Given the description of an element on the screen output the (x, y) to click on. 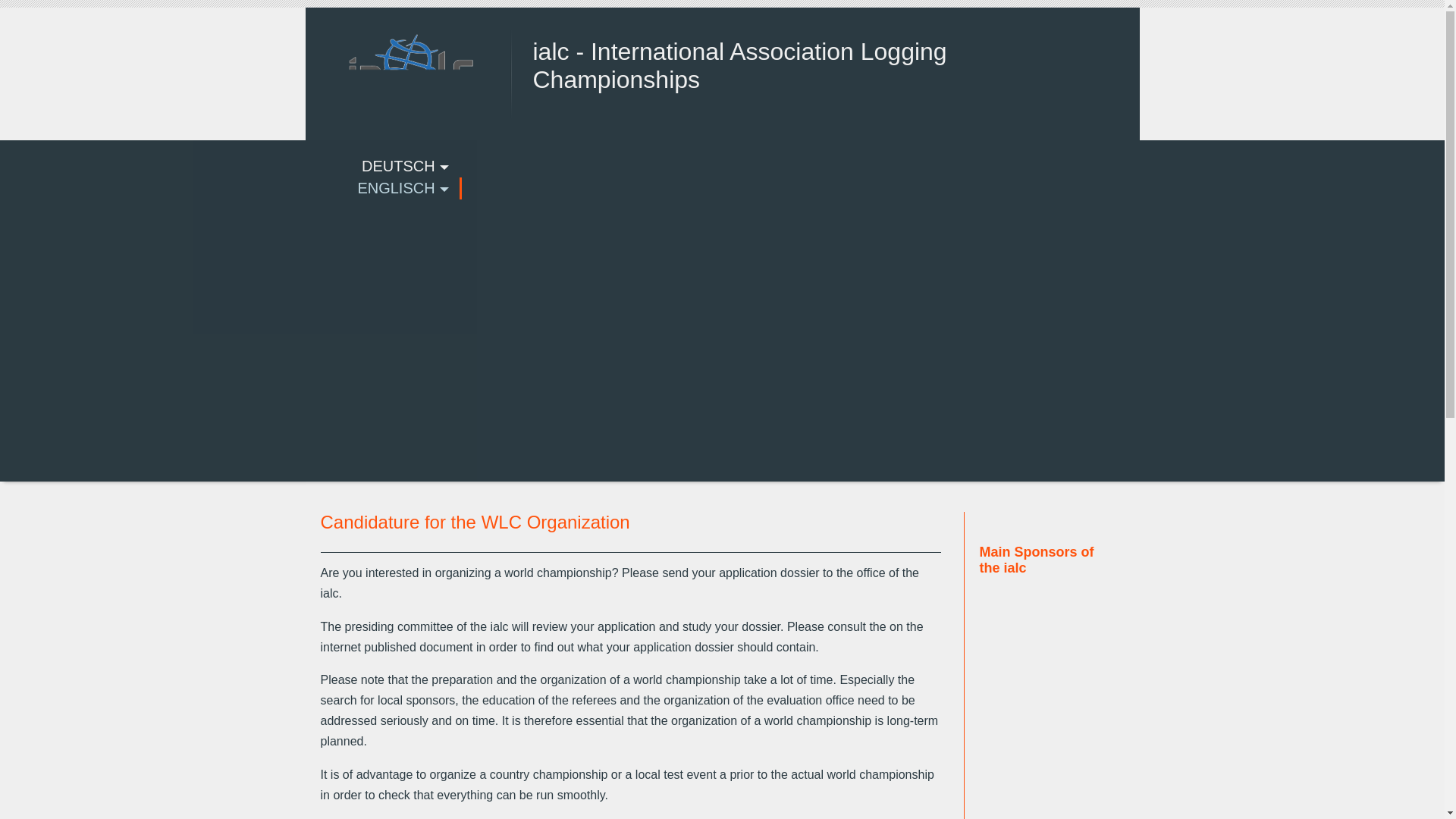
Deutsch (230, 166)
DEUTSCH (230, 166)
